Given the description of an element on the screen output the (x, y) to click on. 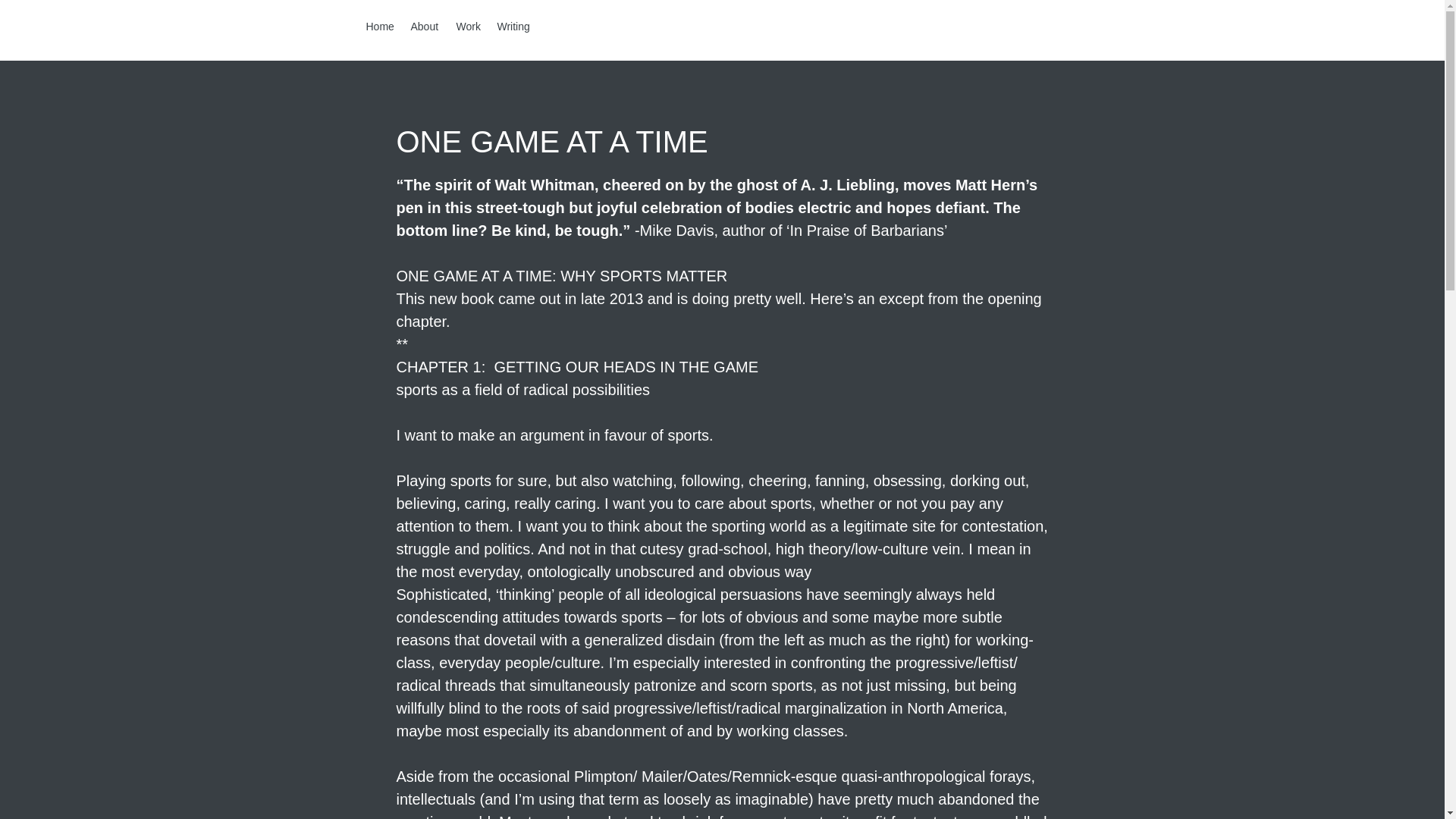
Home (380, 26)
About (425, 26)
Work (468, 26)
Writing (515, 26)
